Given the description of an element on the screen output the (x, y) to click on. 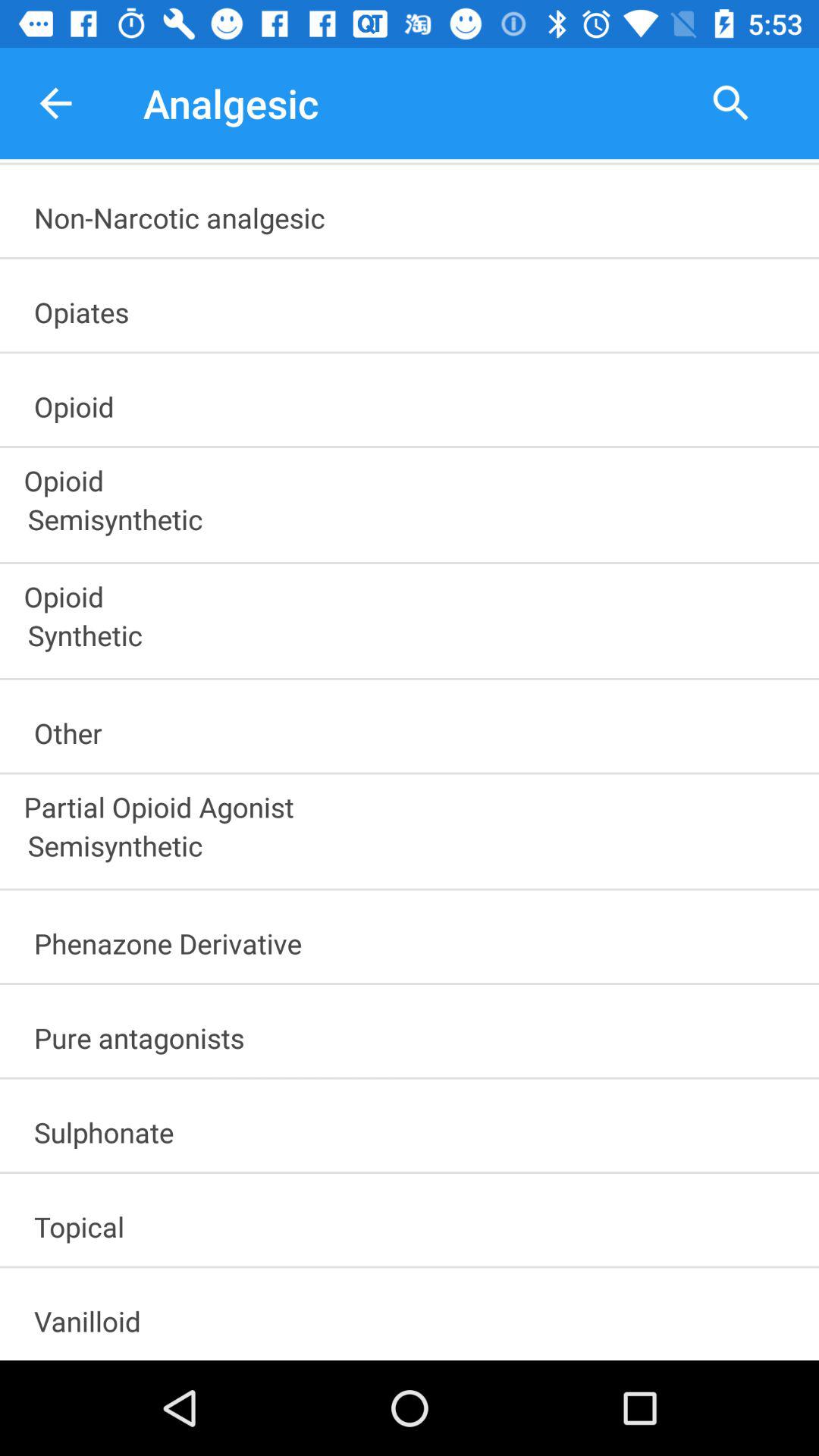
select the icon above non-narcotic analgesic icon (55, 103)
